Given the description of an element on the screen output the (x, y) to click on. 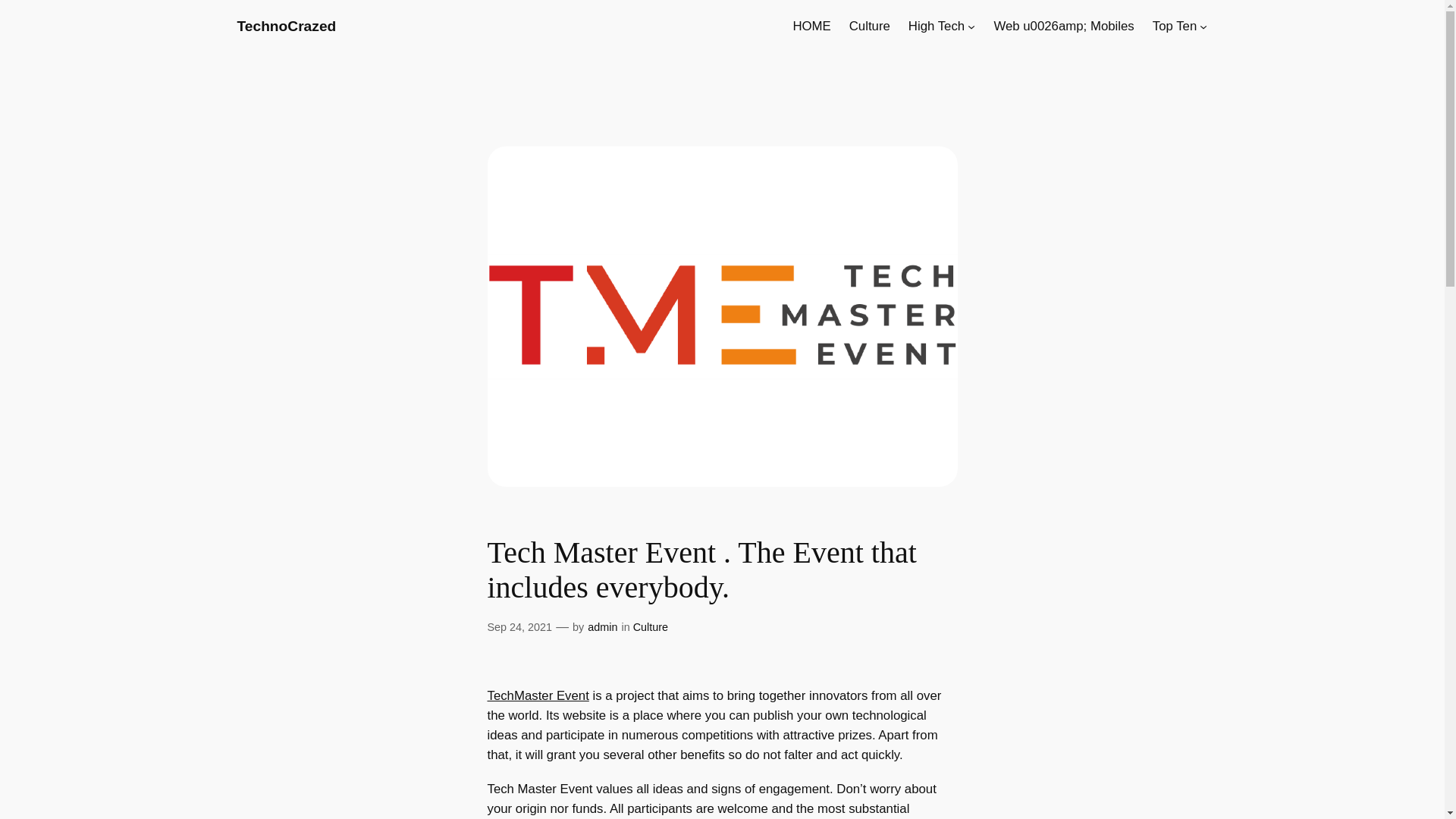
admin (602, 626)
Culture (650, 626)
HOME (810, 26)
Culture (868, 26)
Web u0026amp; Mobiles (1063, 26)
TechnoCrazed (285, 26)
Sep 24, 2021 (518, 626)
TechMaster Event (537, 695)
Top Ten (1174, 26)
High Tech (935, 26)
